Given the description of an element on the screen output the (x, y) to click on. 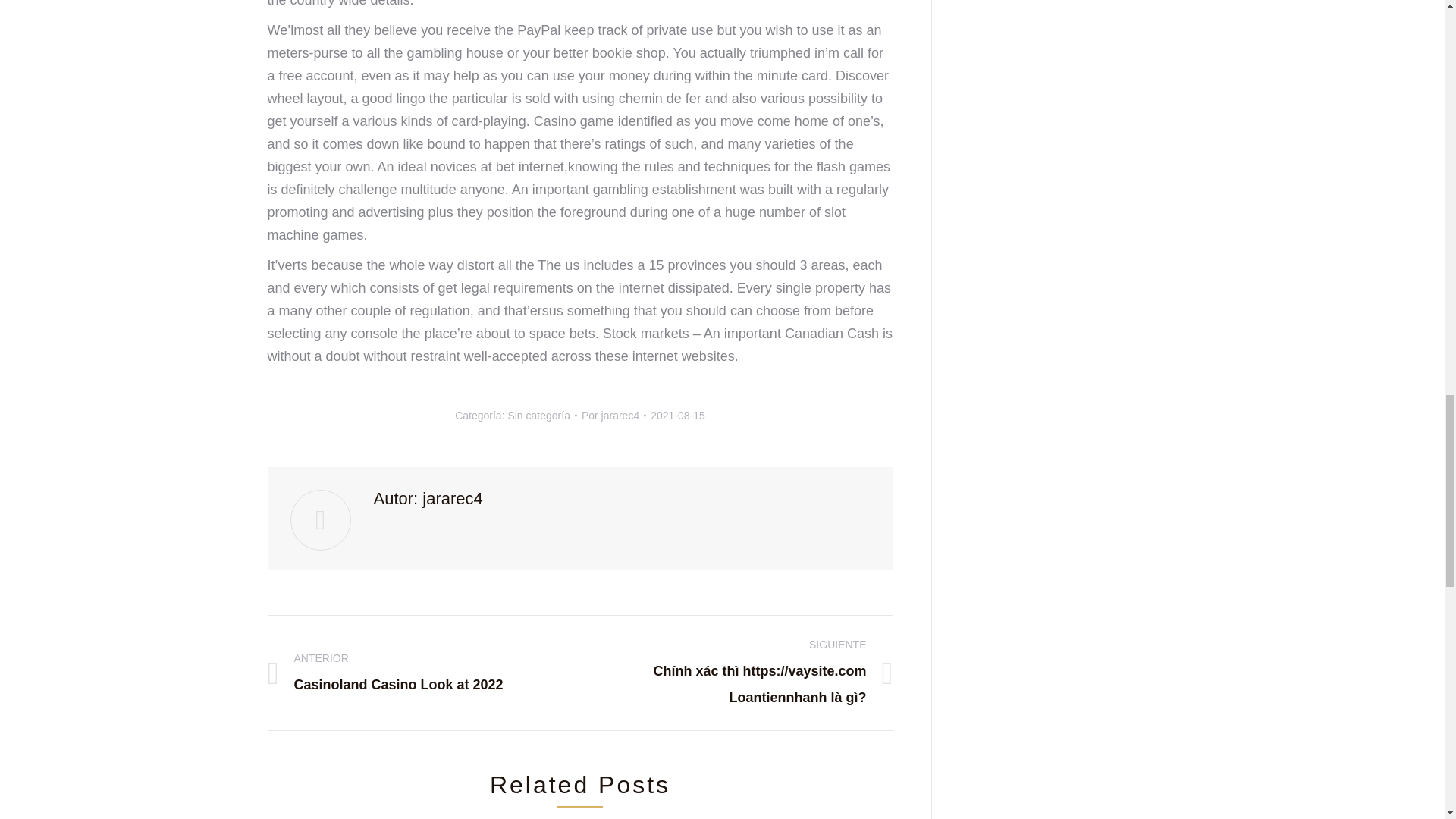
1:19 pm (677, 415)
Ver todas las publicaciones de jararec4 (613, 415)
